Given the description of an element on the screen output the (x, y) to click on. 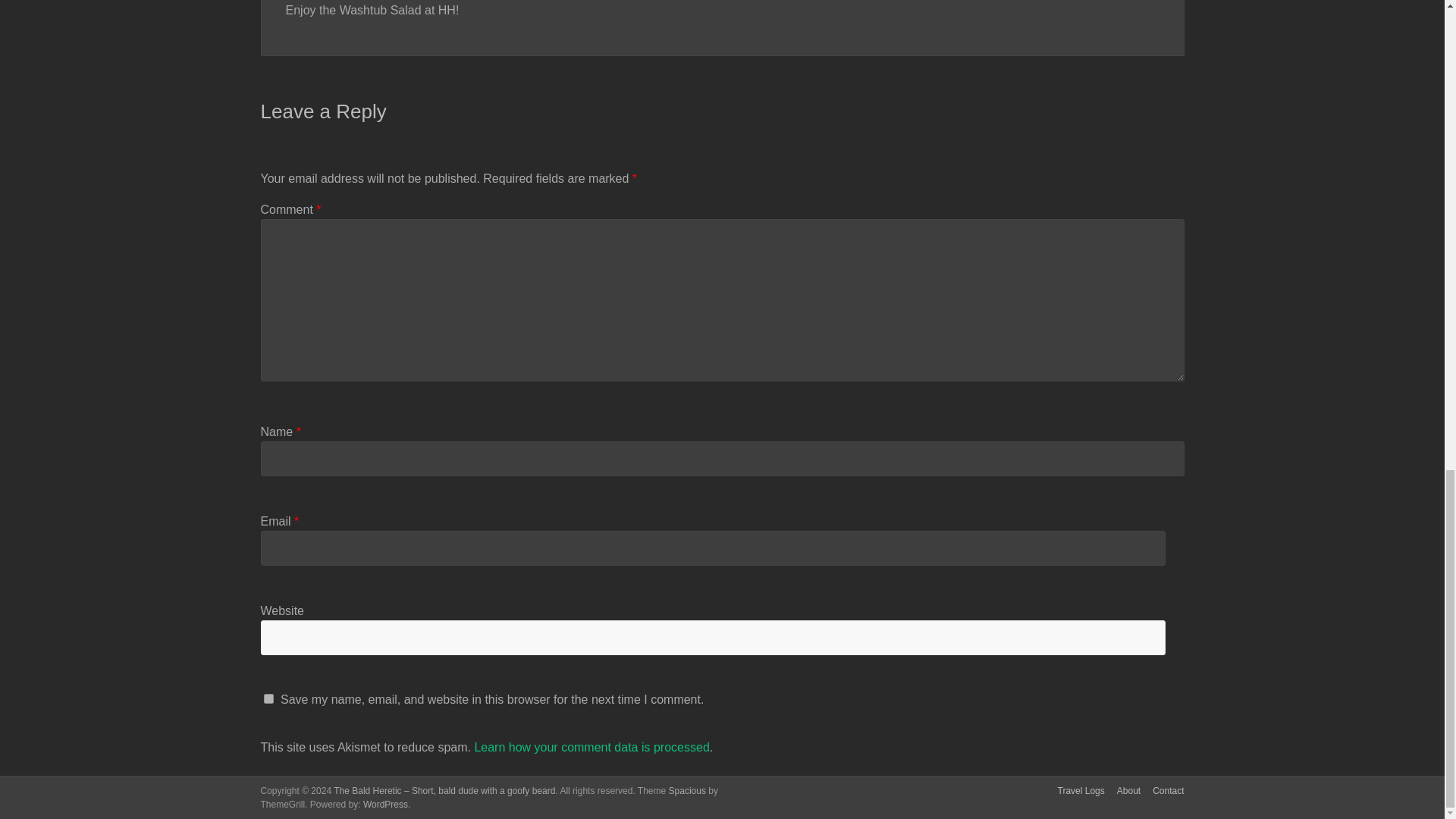
Contact (1161, 791)
yes (268, 698)
Spacious (687, 790)
Travel Logs (1075, 791)
Learn how your comment data is processed (591, 747)
WordPress (384, 804)
Spacious (687, 790)
WordPress (384, 804)
About (1122, 791)
